Given the description of an element on the screen output the (x, y) to click on. 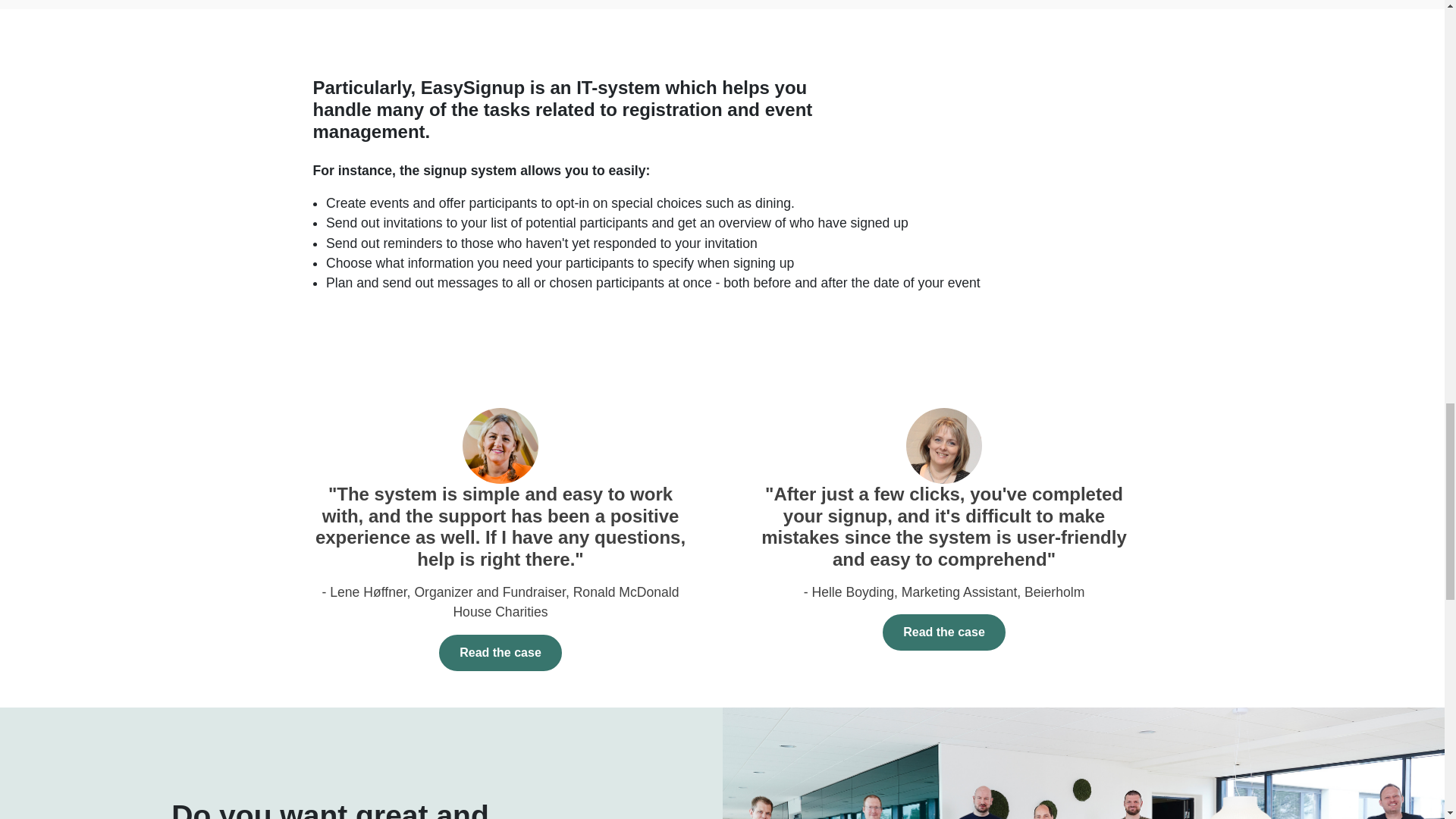
Read the case (500, 652)
Read the case (944, 632)
